Given the description of an element on the screen output the (x, y) to click on. 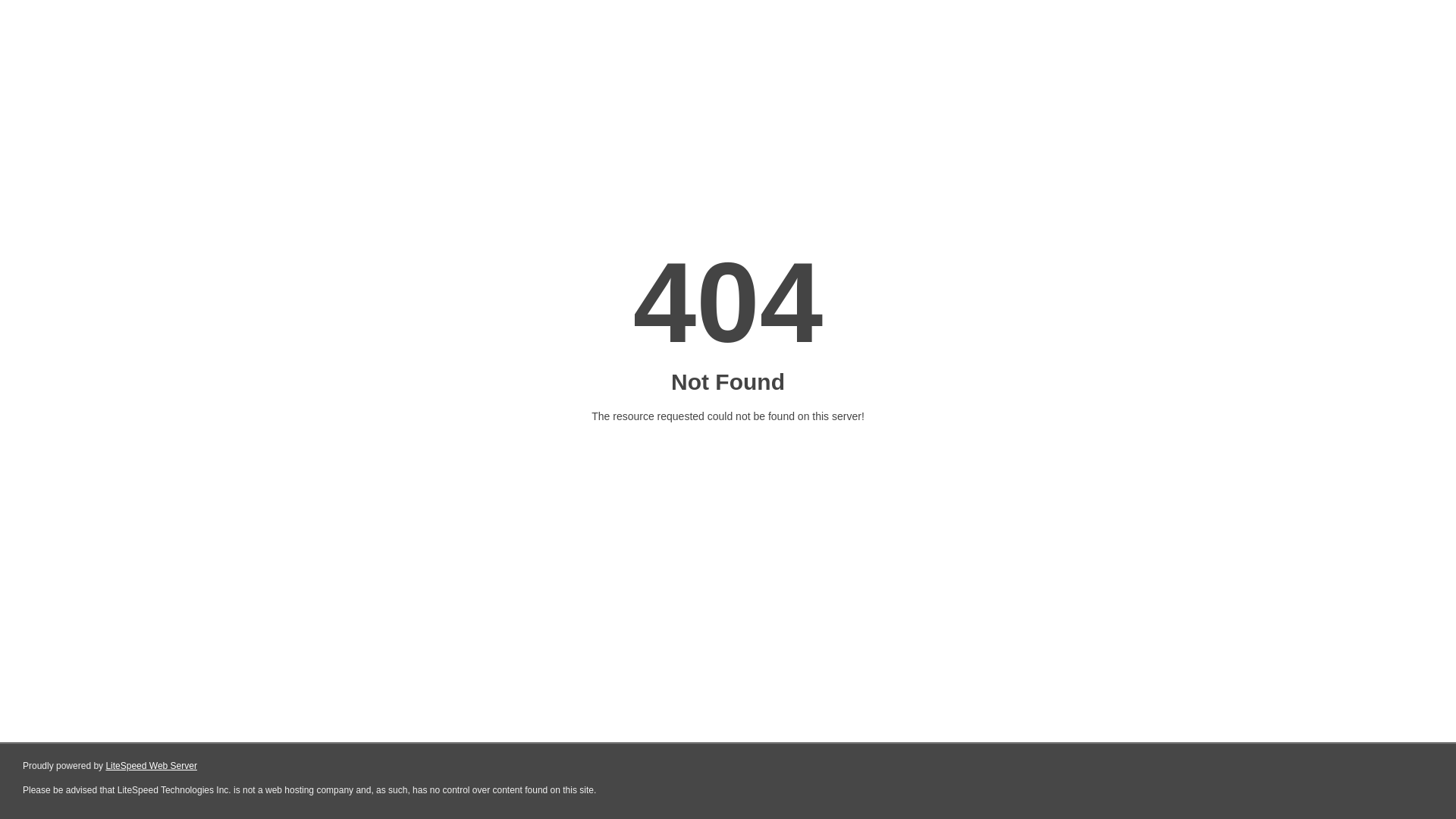
LiteSpeed Web Server Element type: text (151, 765)
